Given the description of an element on the screen output the (x, y) to click on. 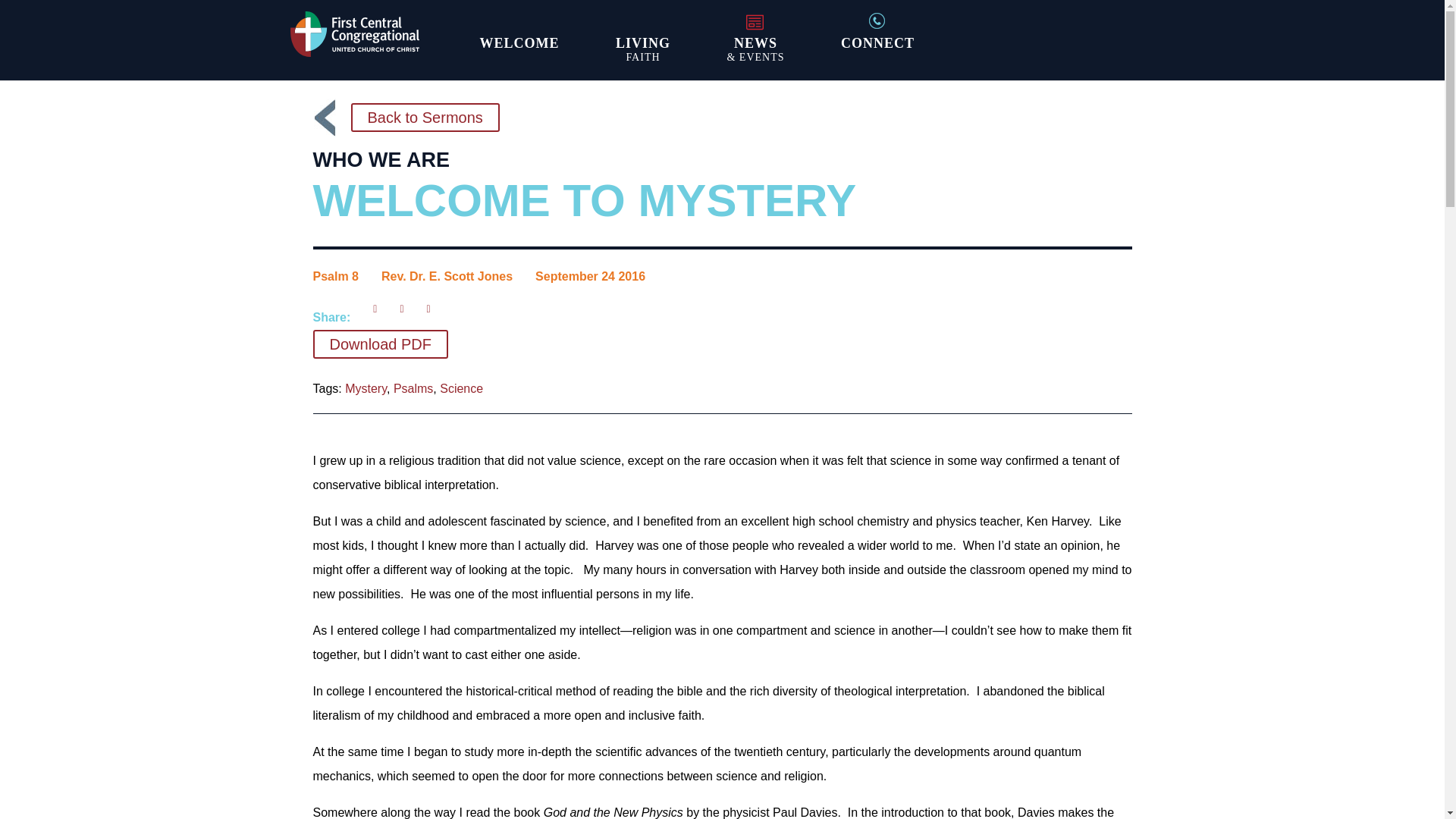
Mystery (366, 388)
Download PDF (380, 344)
CONNECT   (876, 49)
WHO WE ARE (380, 159)
Psalms (412, 388)
Science (461, 388)
LIVING FAITH (643, 49)
WELCOME   (519, 49)
Back to Sermons (424, 117)
